Given the description of an element on the screen output the (x, y) to click on. 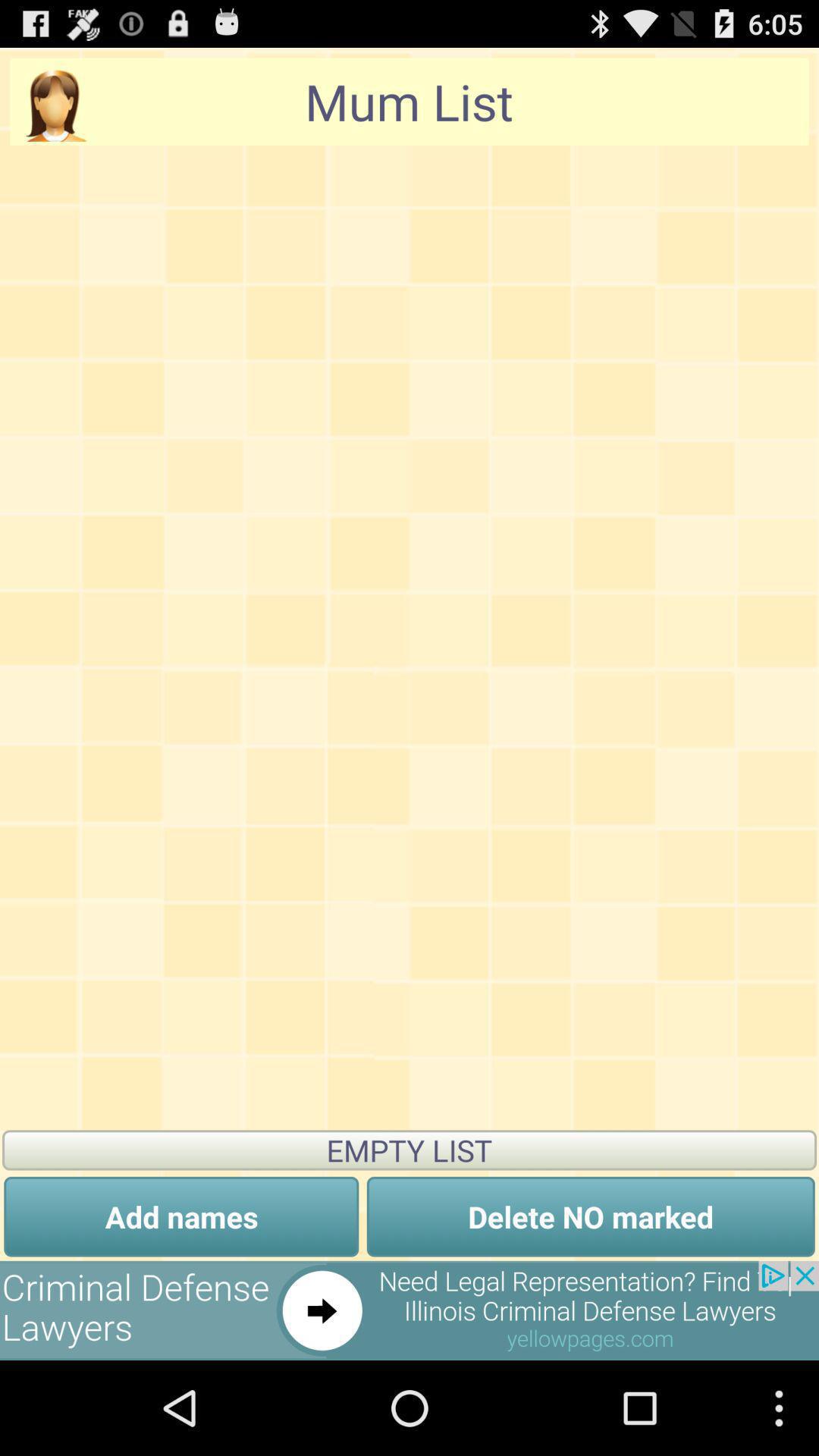
go to linked advertisement page (409, 1310)
